Given the description of an element on the screen output the (x, y) to click on. 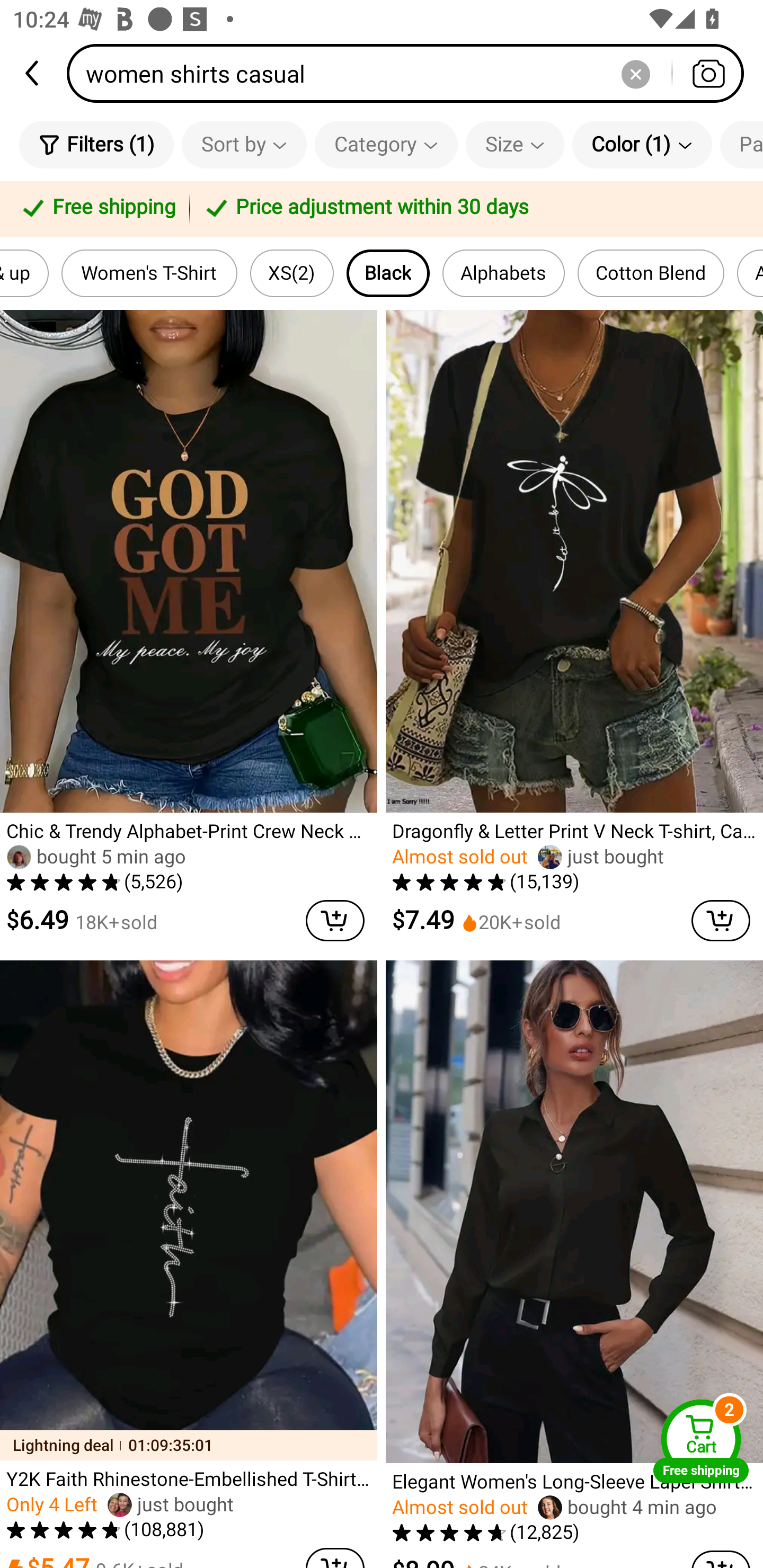
back (33, 72)
women shirts casual (411, 73)
Delete search history (635, 73)
Search by photo (708, 73)
Filters (1) (96, 143)
Sort by (243, 143)
Category (385, 143)
Size (514, 143)
Color (1) (641, 143)
Free shipping (97, 208)
Price adjustment within 30 days (472, 208)
Women's T-Shirt (149, 273)
XS(2) (292, 273)
Black (387, 273)
Alphabets (503, 273)
Cotton Blend (650, 273)
cart delete (334, 920)
cart delete (720, 920)
Cart Free shipping Cart (701, 1440)
